Given the description of an element on the screen output the (x, y) to click on. 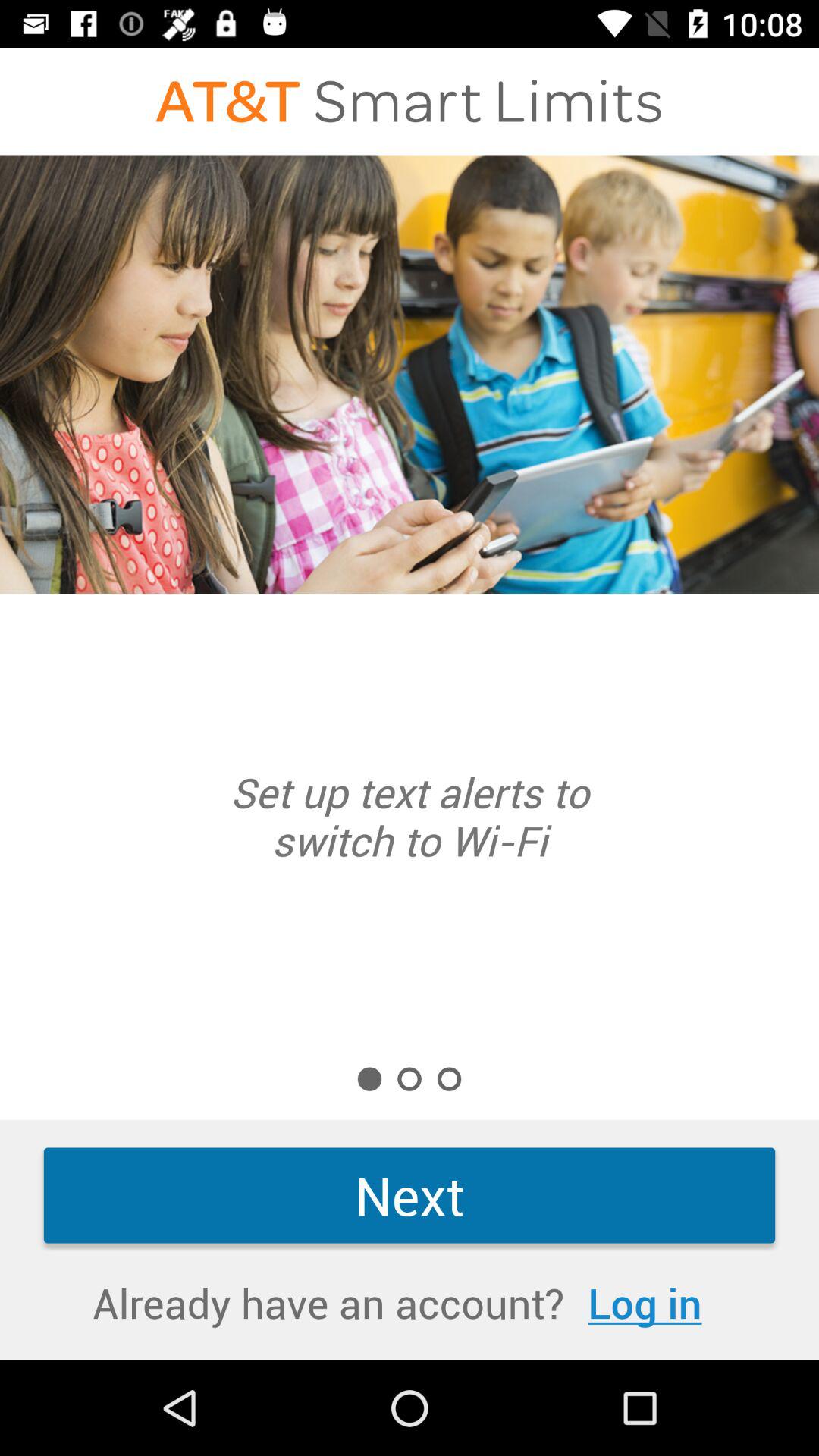
jump to log in (644, 1302)
